Given the description of an element on the screen output the (x, y) to click on. 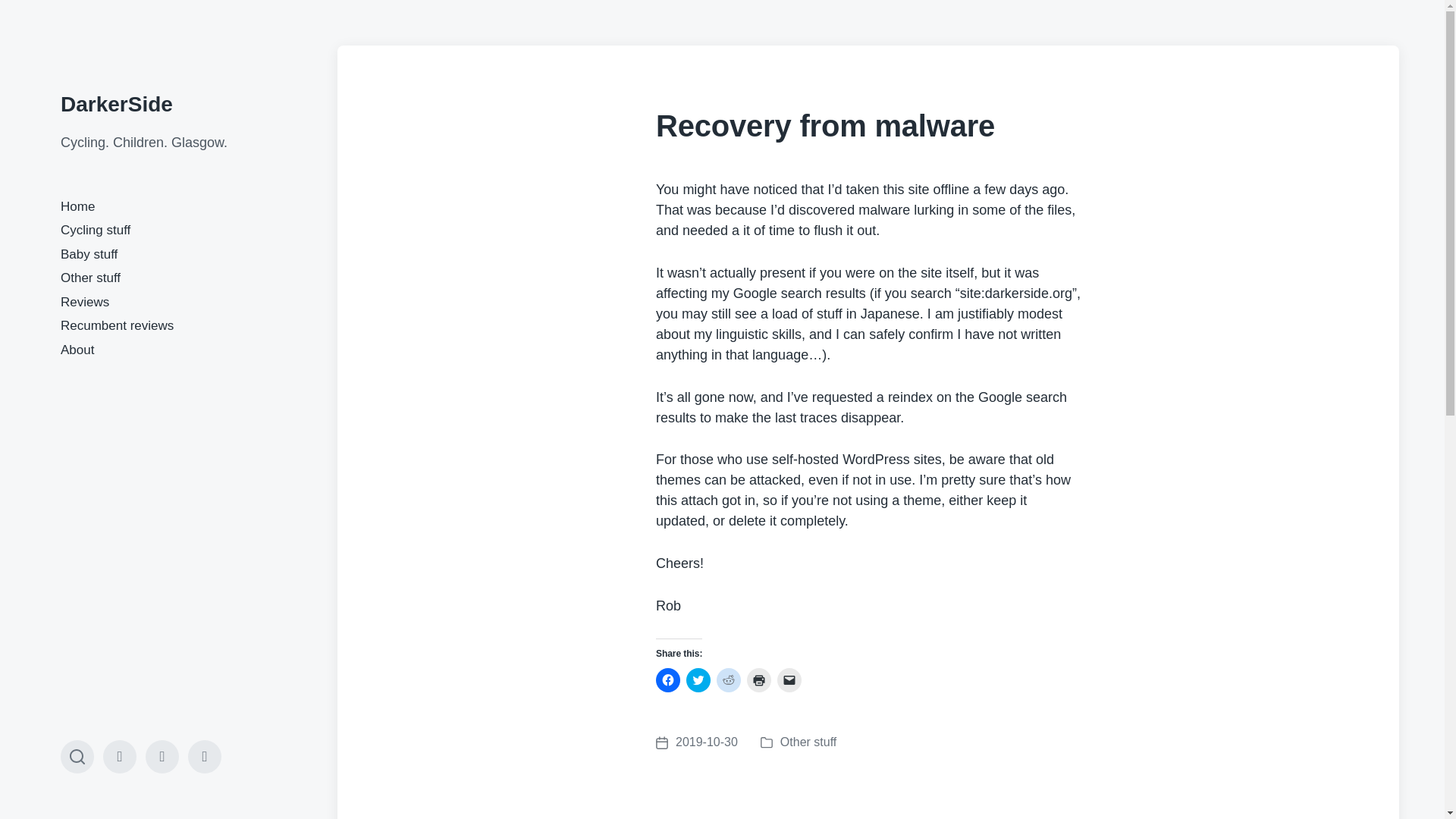
Cycling stuff (96, 229)
Other stuff (807, 741)
About (77, 350)
Toggle the search field (77, 756)
Recumbent reviews (697, 742)
Click to share on Facebook (117, 325)
Click to print (667, 680)
Twitter (758, 680)
Other stuff (119, 756)
Home (90, 278)
Flickr (77, 206)
Reviews (204, 756)
Click to email a link to a friend (85, 301)
Baby stuff (789, 680)
